Given the description of an element on the screen output the (x, y) to click on. 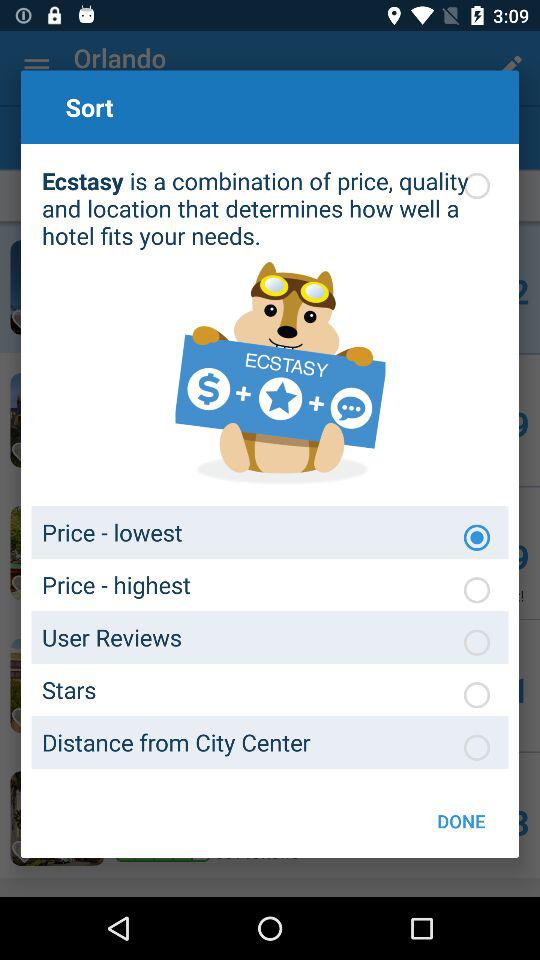
sort by star rating (477, 695)
